Given the description of an element on the screen output the (x, y) to click on. 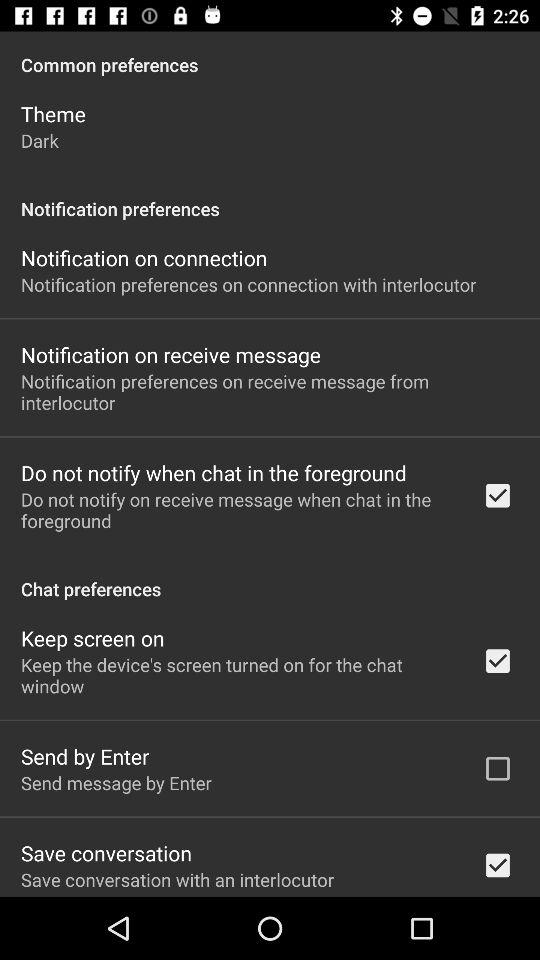
open item below keep screen on (238, 675)
